Given the description of an element on the screen output the (x, y) to click on. 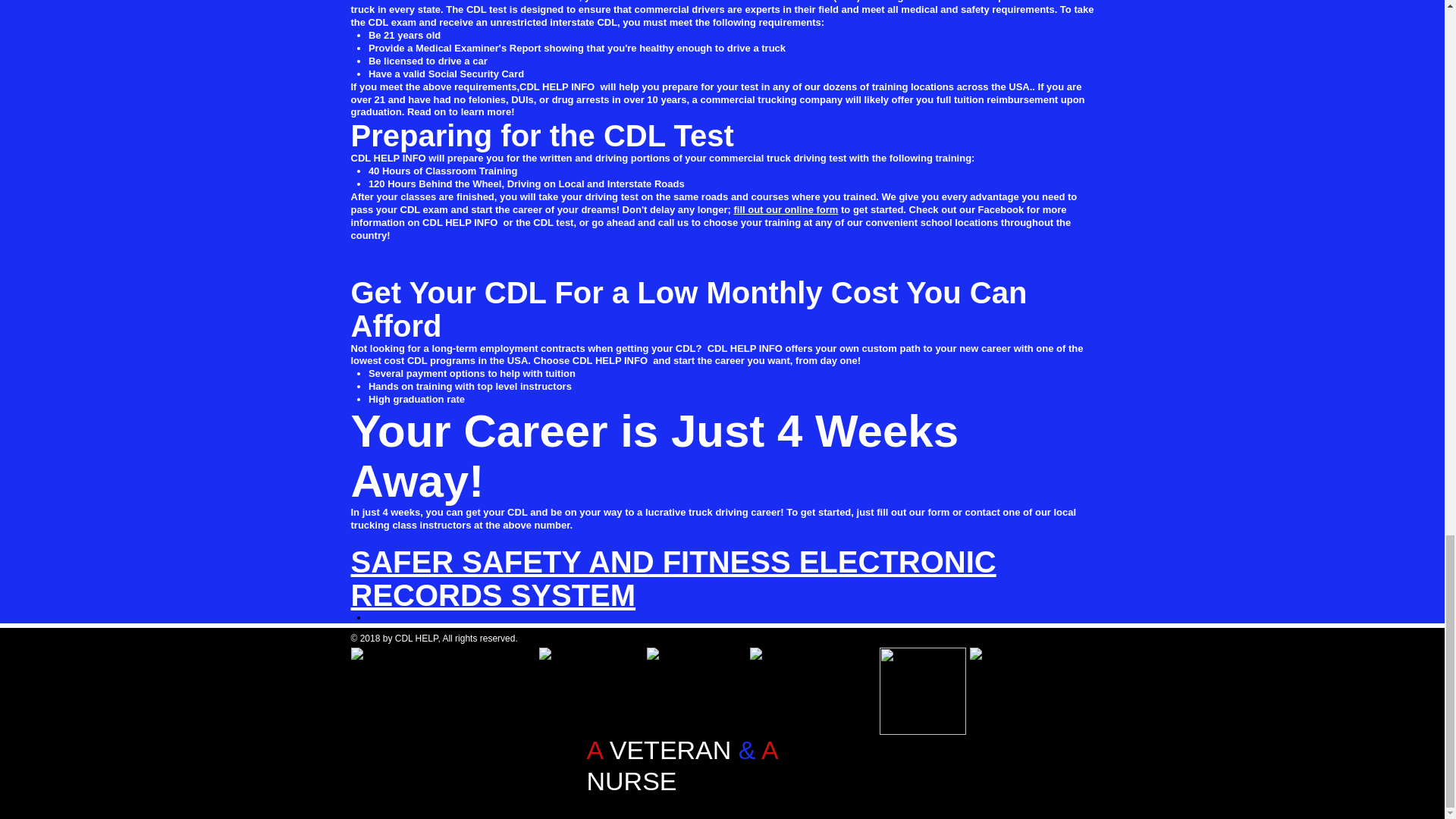
fill out our online form (785, 209)
SAFER SAFETY AND FITNESS ELECTRONIC RECORDS SYSTEM (672, 578)
